Given the description of an element on the screen output the (x, y) to click on. 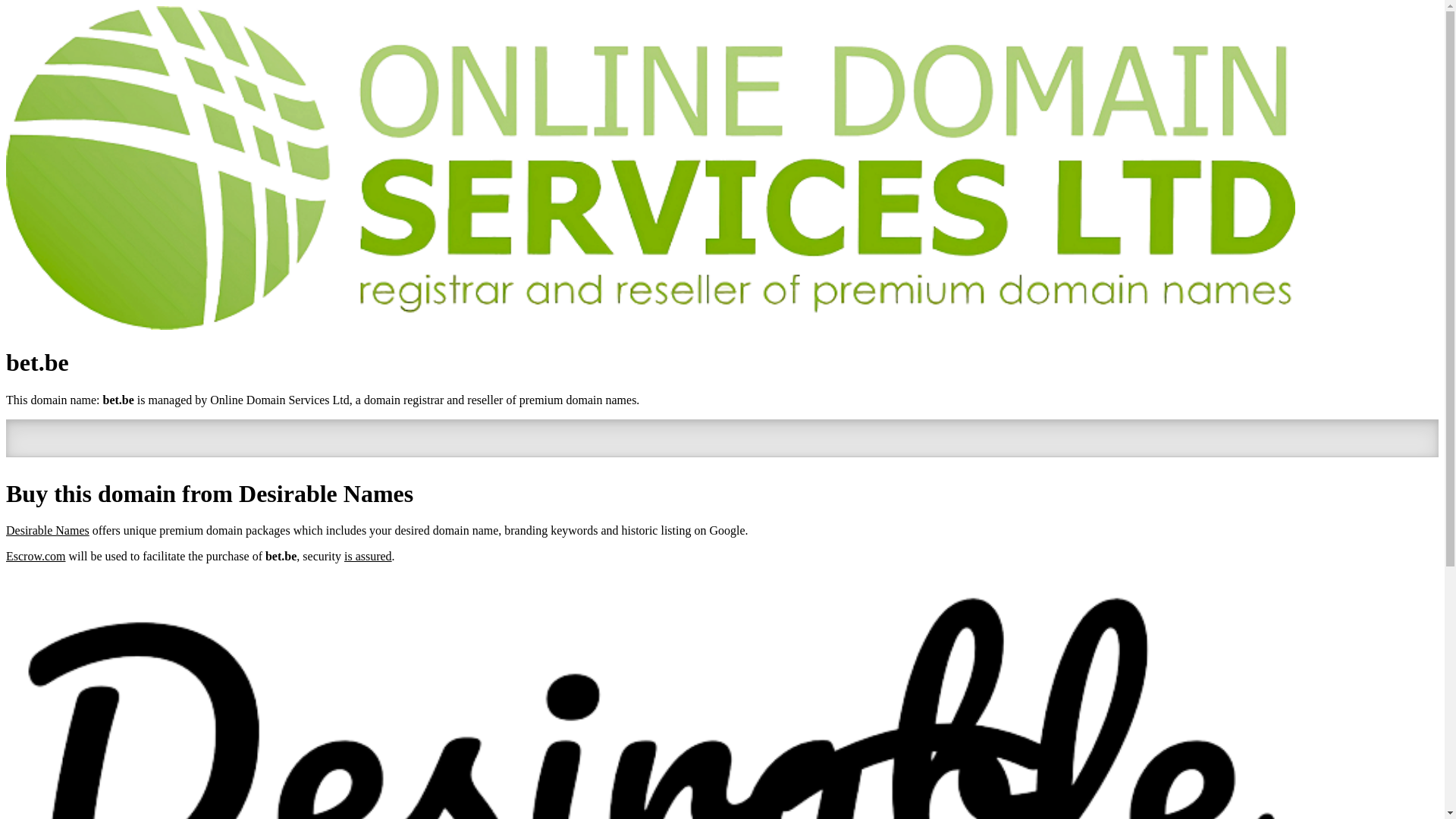
bet.be Element type: text (118, 399)
Escrow.com Element type: text (35, 555)
is assured Element type: text (368, 555)
Online Domain Services Ltd Element type: text (279, 399)
Desirable Names Element type: text (47, 530)
